Given the description of an element on the screen output the (x, y) to click on. 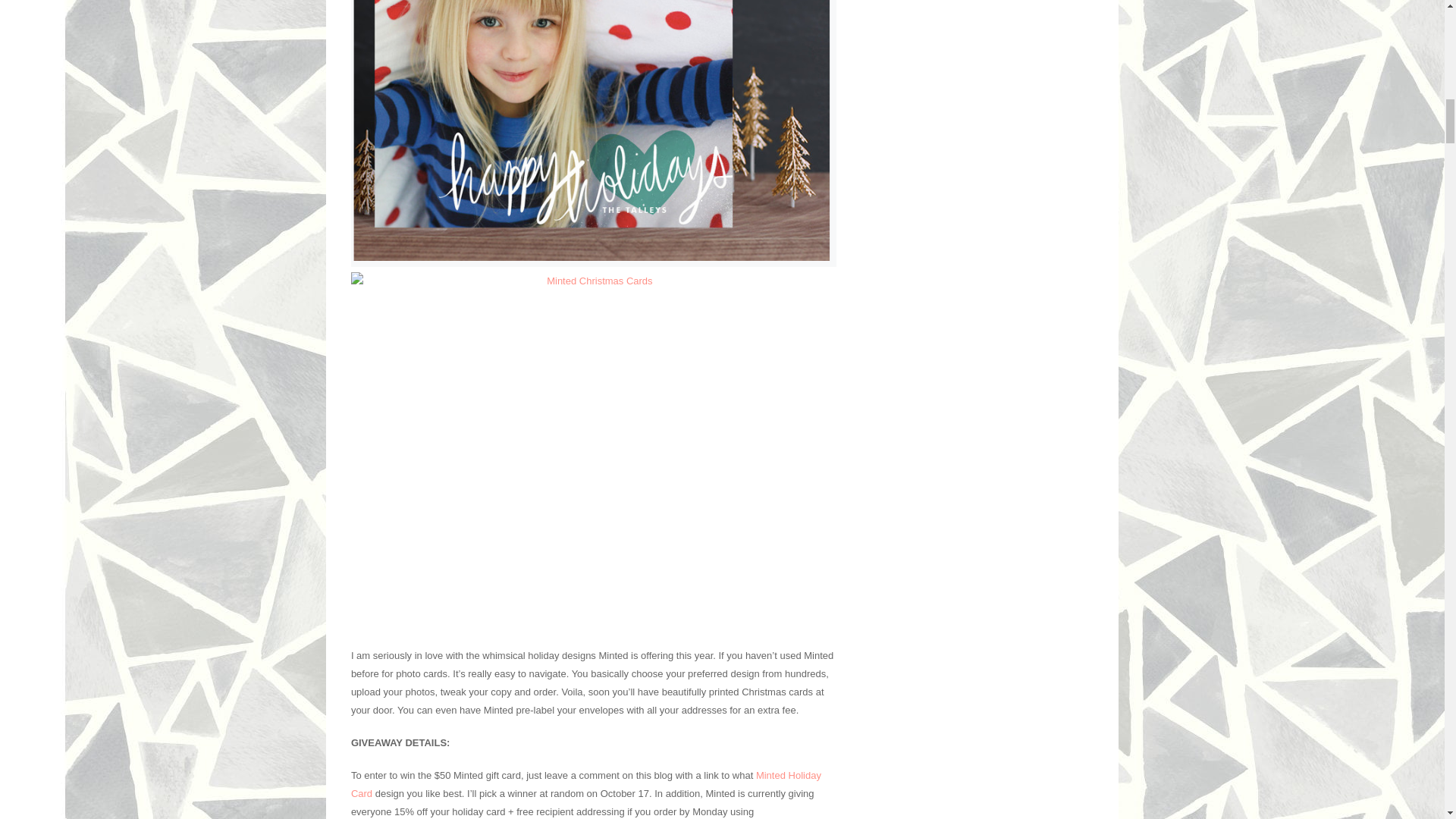
Minted Holiday Card (585, 784)
